Given the description of an element on the screen output the (x, y) to click on. 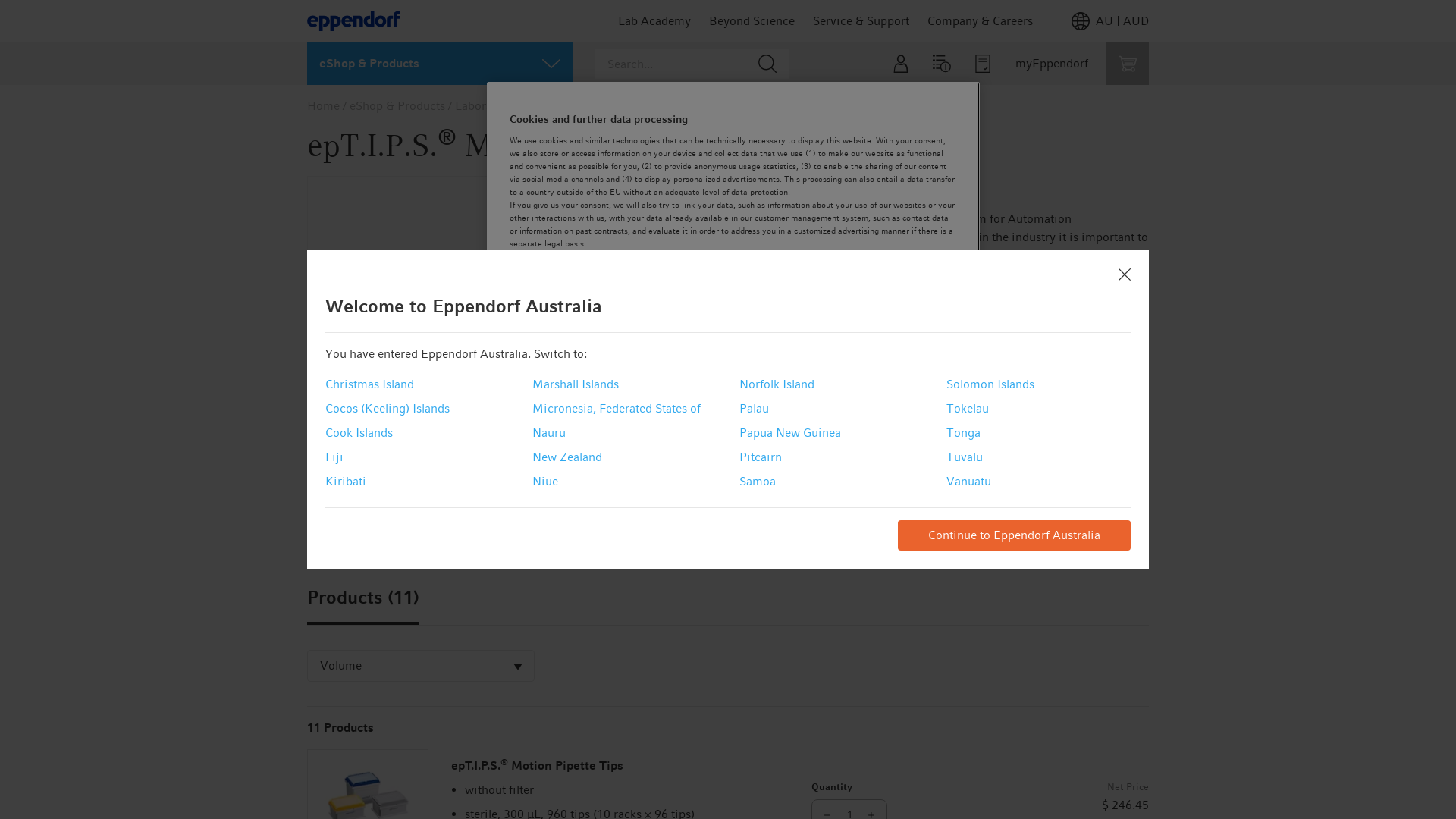
Settings Element type: text (560, 337)
privacy policy Element type: text (686, 295)
Company & Careers Element type: text (979, 21)
Lab Academy Element type: text (654, 21)
Fiji Element type: text (334, 457)
Reject Element type: text (791, 338)
Micronesia, Federated States of Element type: text (616, 408)
Christmas Island Element type: text (369, 384)
eShop & Products Element type: text (397, 106)
Home Element type: text (323, 106)
Vanuatu Element type: text (968, 481)
Quote Element type: hover (982, 63)
Palau Element type: text (753, 408)
Tips Element type: text (609, 106)
Tonga Element type: text (963, 432)
bottom of this page Element type: text (1068, 443)
Tuvalu Element type: text (964, 457)
Show more Product Information Element type: text (855, 316)
Nauru Element type: text (548, 432)
Laboratory Consumables Element type: text (521, 106)
eShop & Products Element type: text (439, 63)
Quick Order Element type: hover (941, 63)
Beyond Science Element type: text (751, 21)
Niue Element type: text (545, 481)
epTIPS Motion Racks Element type: hover (511, 328)
Kiribati Element type: text (345, 481)
New Zealand Element type: text (567, 457)
Pitcairn Element type: text (760, 457)
Agree Element type: text (905, 338)
Norfolk Island Element type: text (776, 384)
Continue to Eppendorf Australia Element type: text (1013, 535)
Cook Islands Element type: text (358, 432)
Cocos (Keeling) Islands Element type: text (387, 408)
Solomon Islands Element type: text (990, 384)
Marshall Islands Element type: text (575, 384)
Papua New Guinea Element type: text (789, 432)
Tokelau Element type: text (967, 408)
epTIPS Motion Racks Element type: hover (340, 524)
Samoa Element type: text (757, 481)
Service & Support Element type: text (860, 21)
